Given the description of an element on the screen output the (x, y) to click on. 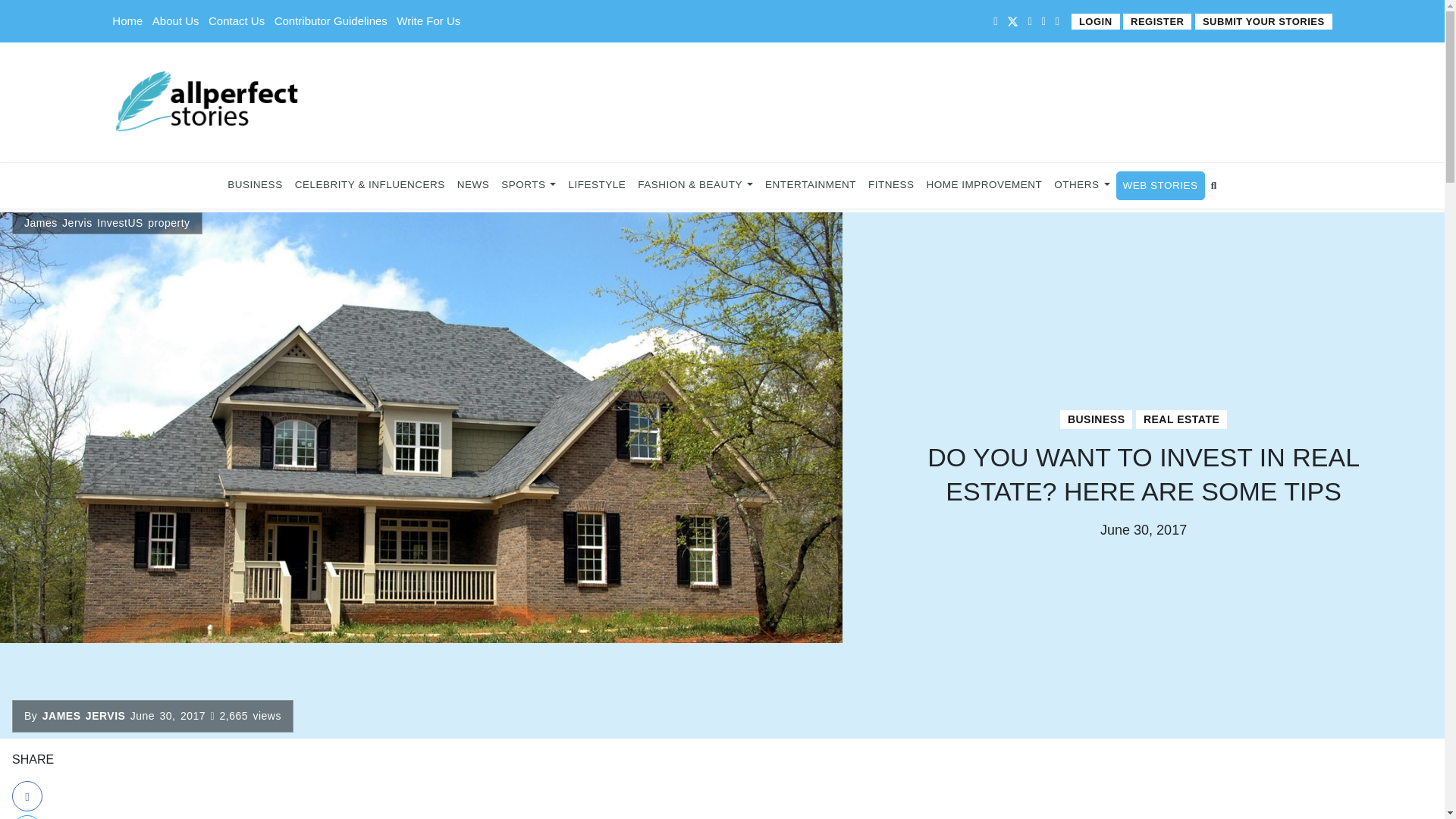
Contact Us (236, 20)
SUBMIT YOUR STORIES (1263, 21)
Write For Us (428, 20)
About Us (175, 20)
REGISTER (1156, 21)
Contributor Guidelines (331, 20)
LOGIN (1095, 21)
Home (127, 20)
